Given the description of an element on the screen output the (x, y) to click on. 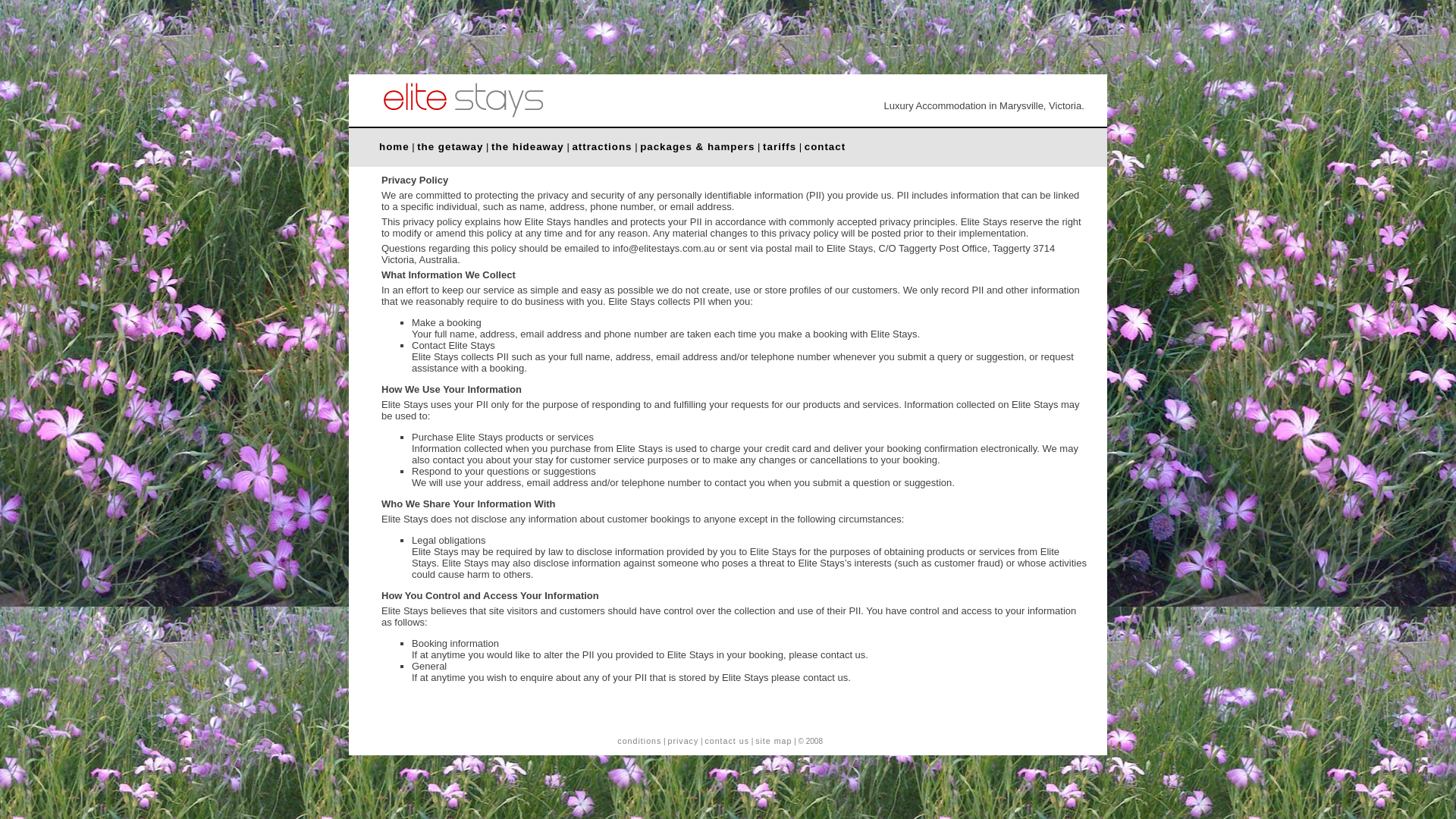
privacy Element type: text (682, 740)
attractions Element type: text (601, 146)
the getaway Element type: text (450, 146)
packages & hampers Element type: text (697, 146)
the hideaway Element type: text (527, 146)
tariffs Element type: text (779, 146)
home Element type: text (394, 146)
conditions Element type: text (639, 740)
contact us Element type: text (726, 740)
site map Element type: text (773, 740)
contact Element type: text (824, 146)
